Given the description of an element on the screen output the (x, y) to click on. 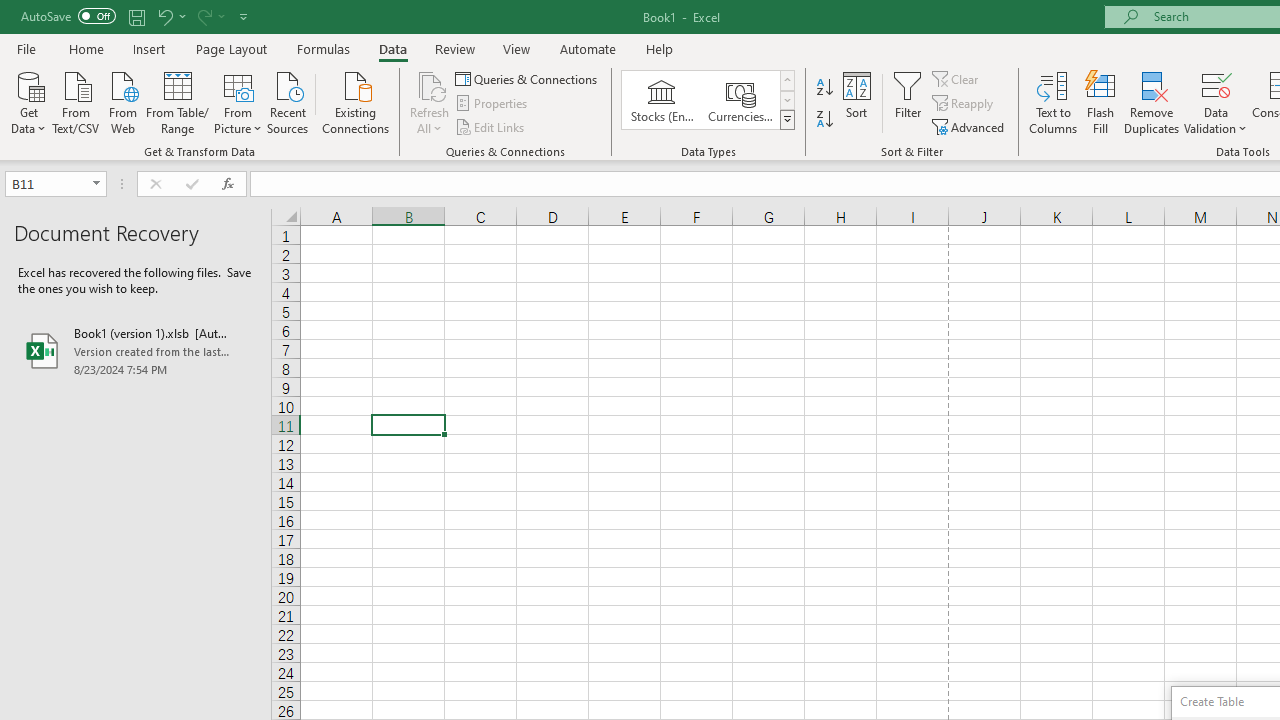
Queries & Connections (527, 78)
Clear (957, 78)
Data Types (786, 120)
Name Box (56, 183)
Currencies (English) (740, 100)
Automate (588, 48)
View (517, 48)
Refresh All (429, 102)
Undo (164, 15)
Quick Access Toolbar (136, 16)
AutomationID: ConvertToLinkedEntity (708, 99)
Undo (170, 15)
From Picture (238, 101)
Sort... (856, 102)
